Given the description of an element on the screen output the (x, y) to click on. 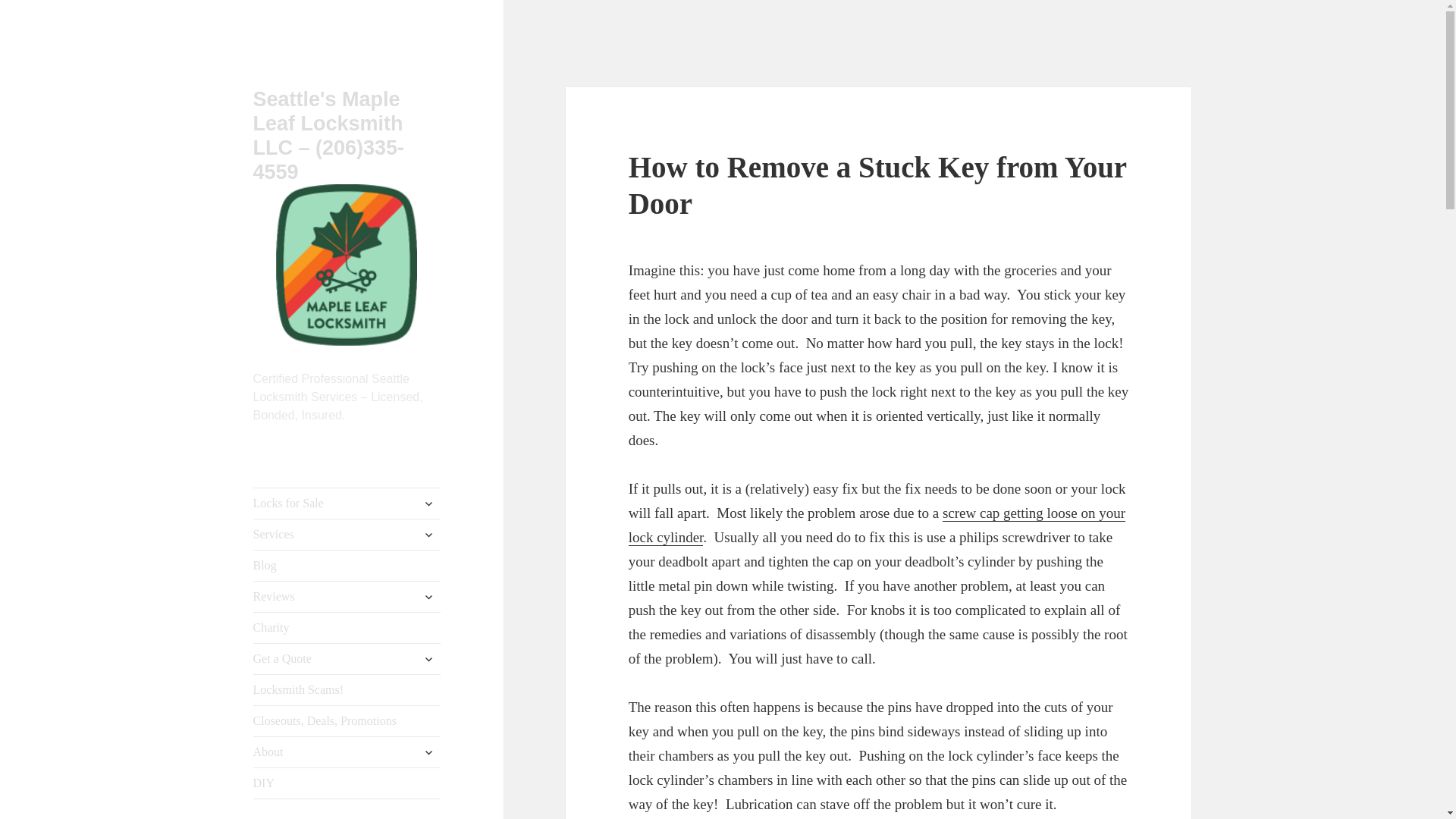
Do it Yourself Locksmithing (347, 783)
Locks for Sale (347, 503)
Services (347, 534)
expand child menu (428, 503)
expand child menu (428, 534)
